Given the description of an element on the screen output the (x, y) to click on. 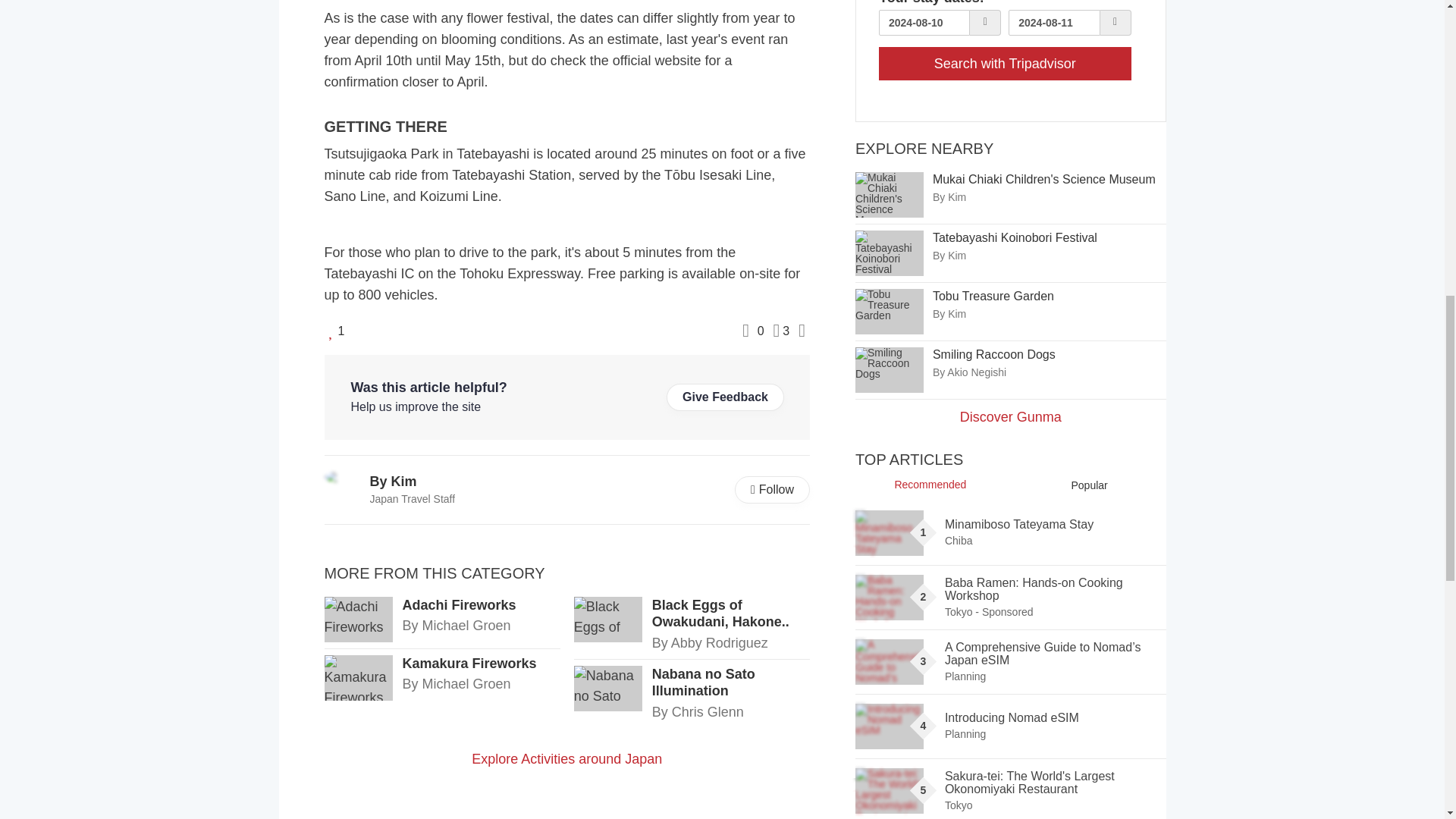
Minamiboso Tateyama Stay (889, 533)
2024-08-10 (924, 22)
Sakura-tei: The World's Largest Okonomiyaki Restaurant (889, 791)
Tobu Treasure Garden (889, 311)
Kim (343, 476)
3 (781, 330)
2024-08-11 (1054, 22)
Smiling Raccoon Dogs (889, 370)
Baba Ramen: Hands-on Cooking Workshop (889, 596)
Introducing Nomad eSIM (889, 726)
Mukai Chiaki Children's Science Museum (889, 194)
Tatebayashi Koinobori Festival (889, 253)
